Given the description of an element on the screen output the (x, y) to click on. 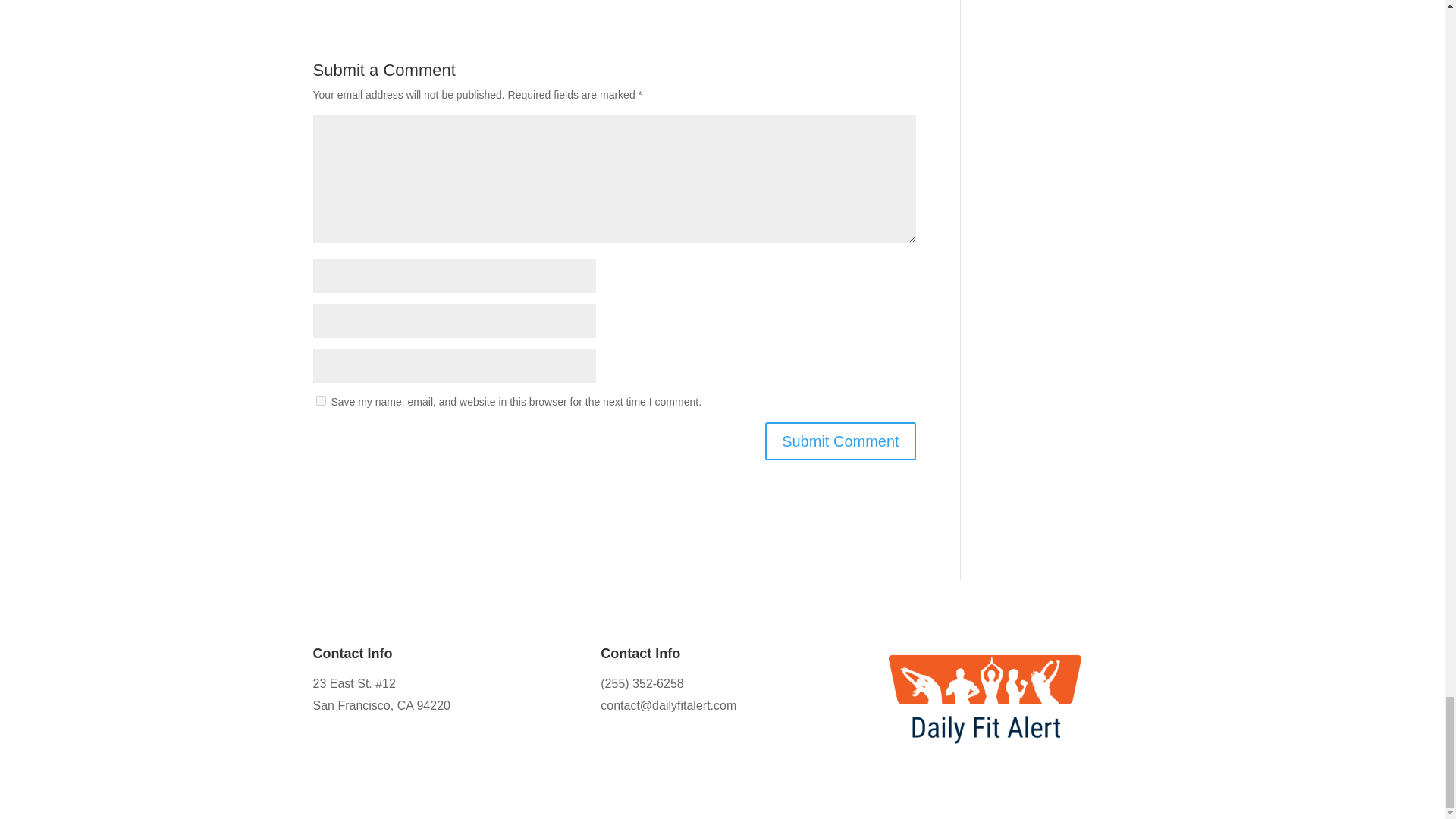
Submit Comment (840, 441)
yes (319, 400)
